Given the description of an element on the screen output the (x, y) to click on. 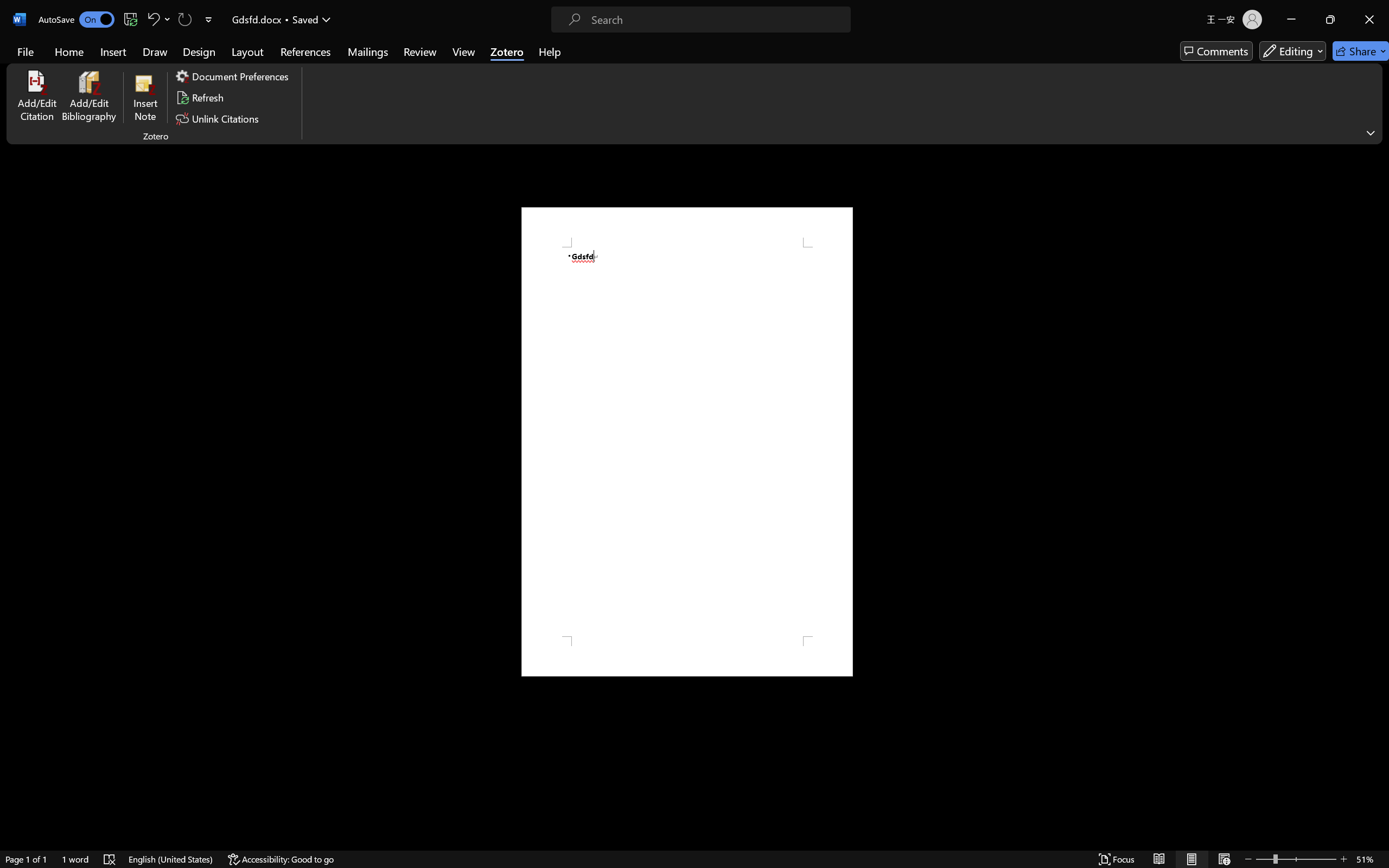
Page 1 content (686, 441)
